Given the description of an element on the screen output the (x, y) to click on. 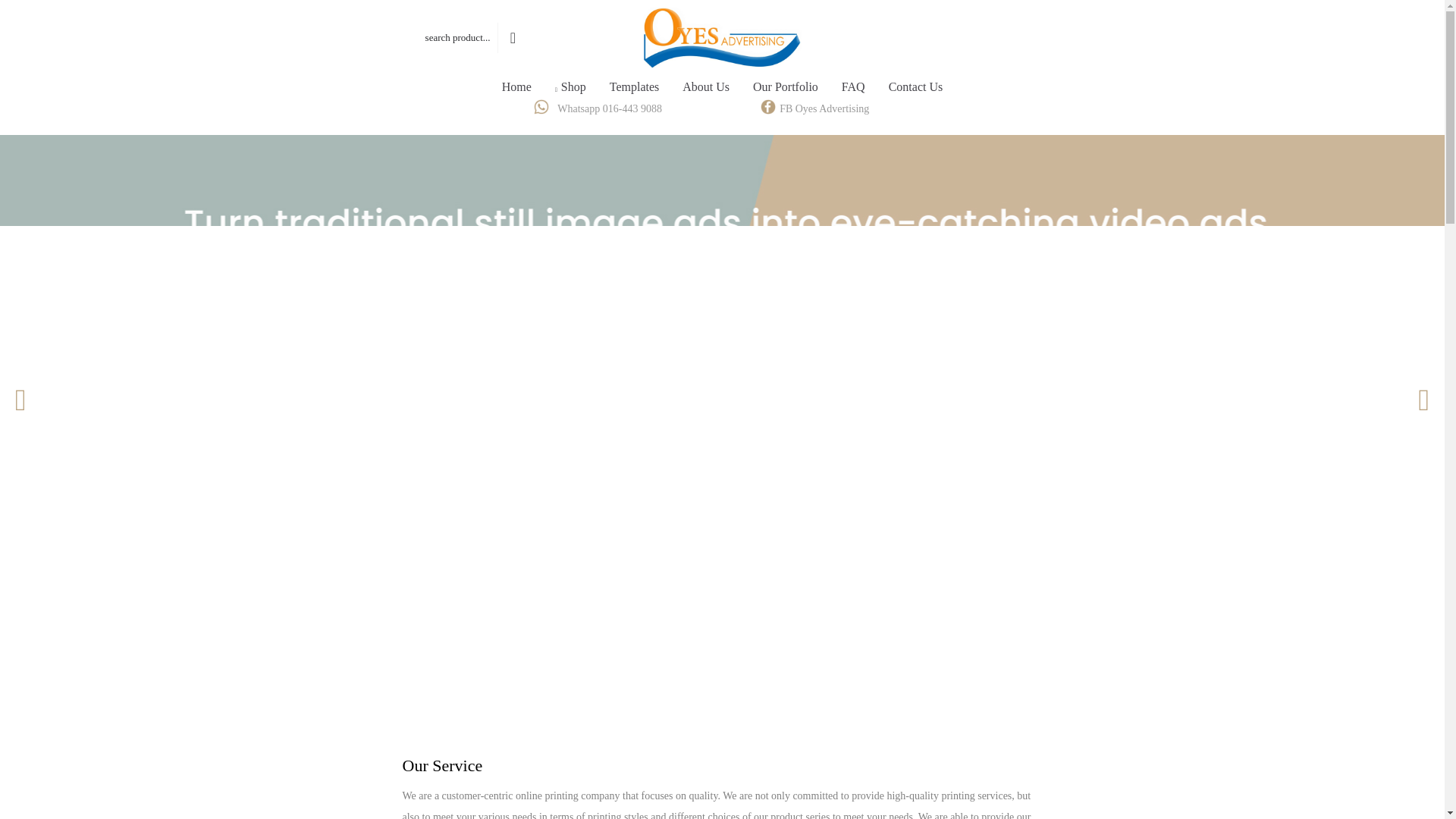
About Us (706, 87)
Whatsapp 016-443 9088 (609, 108)
Home (516, 87)
Templates (634, 87)
Oyes Advertising (722, 37)
FB Oyes Advertising (823, 108)
Contact Us (916, 87)
Shop (569, 87)
FAQ (852, 87)
Our Portfolio (785, 87)
